Given the description of an element on the screen output the (x, y) to click on. 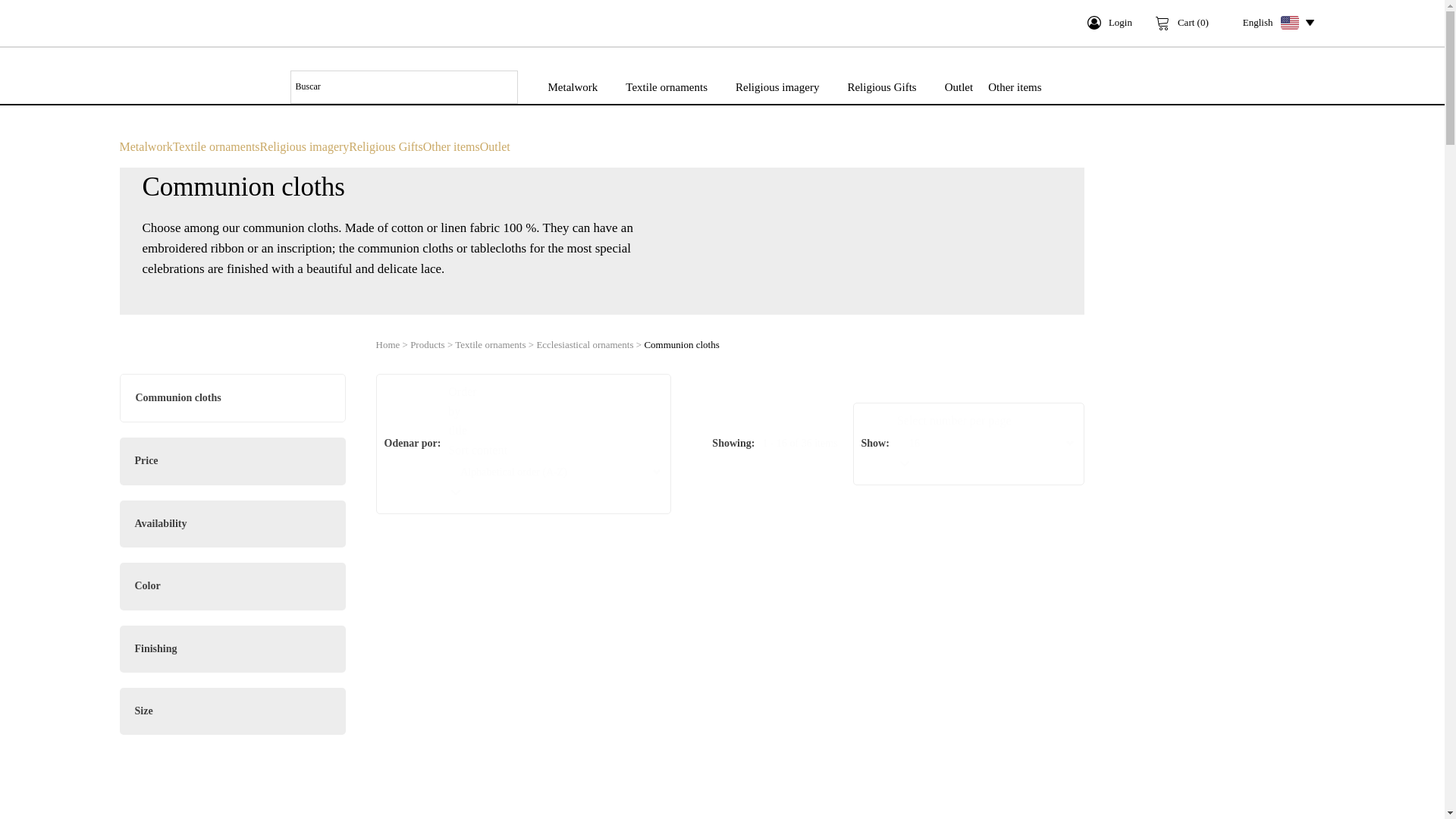
Login (1109, 23)
Metalwork (572, 87)
Textile ornaments (665, 87)
